Given the description of an element on the screen output the (x, y) to click on. 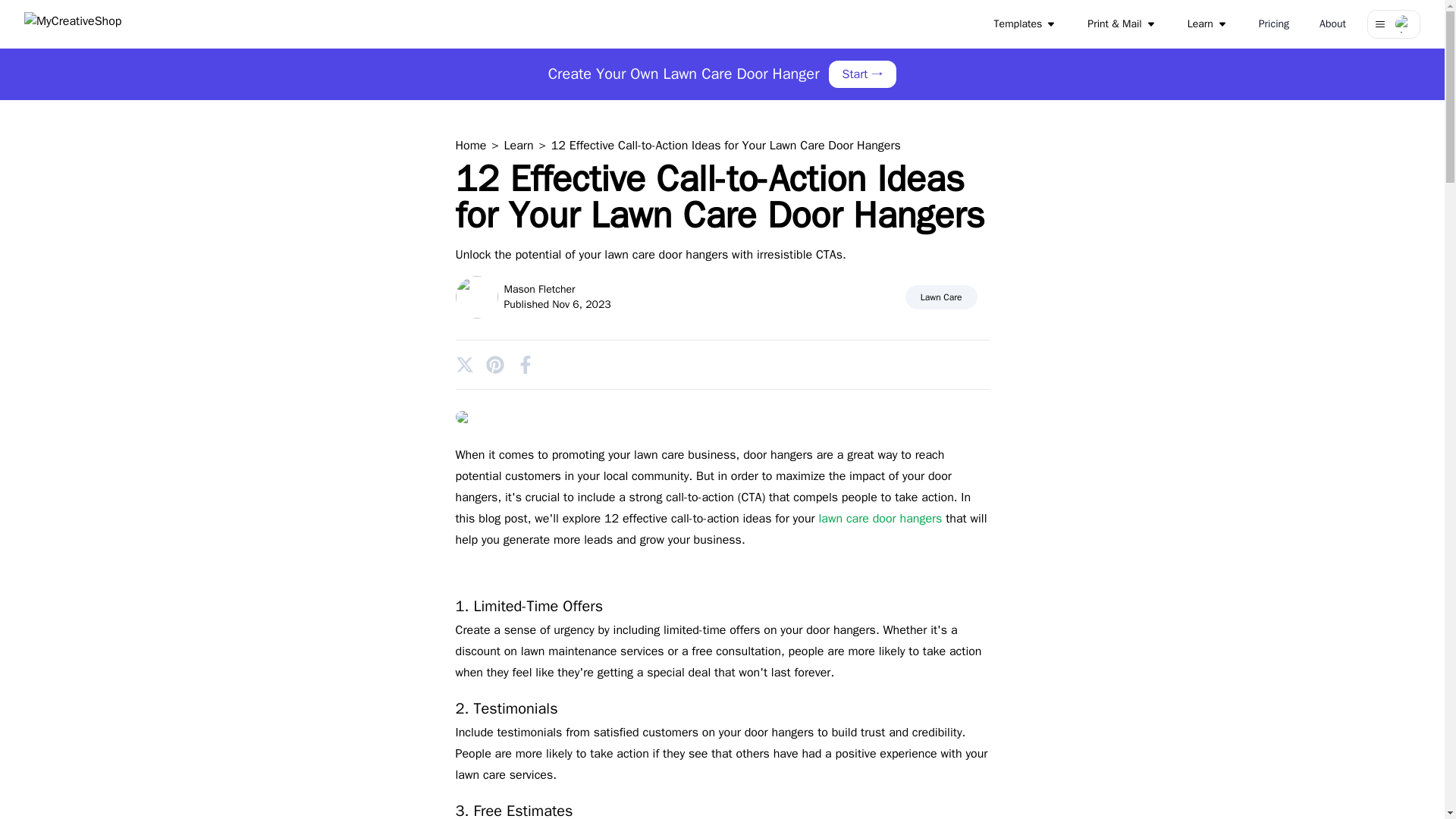
Lawn Care (940, 297)
lawn care door hangers (880, 518)
Templates (1026, 23)
Pricing (1273, 23)
Home (471, 145)
Learn (1207, 23)
About (1332, 23)
Learn (520, 145)
